Given the description of an element on the screen output the (x, y) to click on. 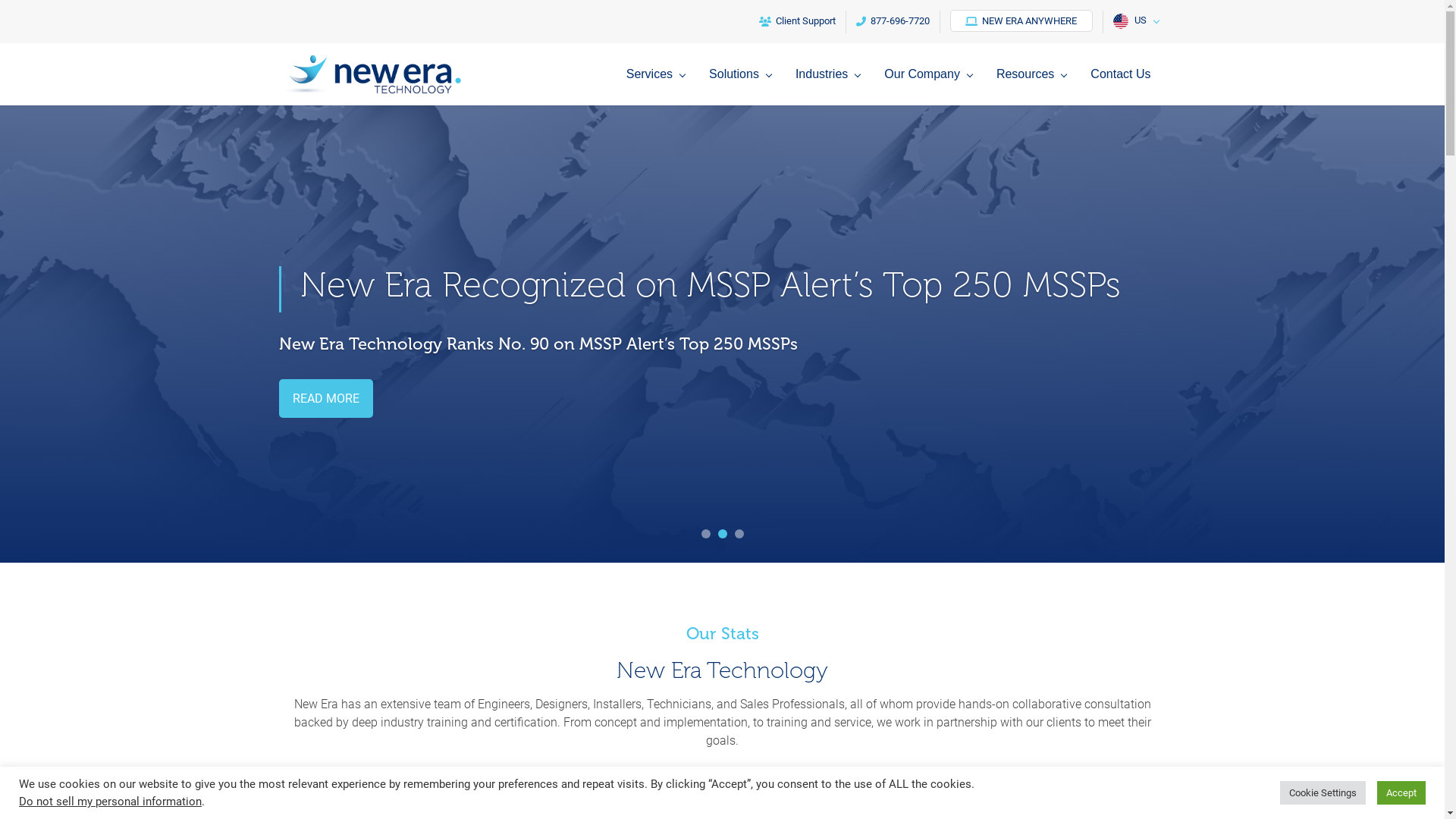
Reimagine How Your Business Works Element type: text (590, 284)
Accept Element type: text (1401, 792)
US Element type: text (1134, 21)
Contact Us Element type: text (1120, 86)
Resources Element type: text (1034, 86)
Cookie Settings Element type: text (1322, 792)
Do not sell my personal information Element type: text (109, 801)
3 Element type: text (738, 533)
2 Element type: text (721, 533)
Industries Element type: text (831, 86)
1 Element type: text (704, 533)
NEW ERA ANYWHERE Element type: text (1020, 20)
Solutions Element type: text (743, 86)
Our Company Element type: text (931, 86)
Client Support Element type: text (797, 21)
877-696-7720 Element type: text (893, 21)
Services Element type: text (659, 86)
EXPLORE DIGITAL TRANSFORMATION Element type: text (396, 398)
